Given the description of an element on the screen output the (x, y) to click on. 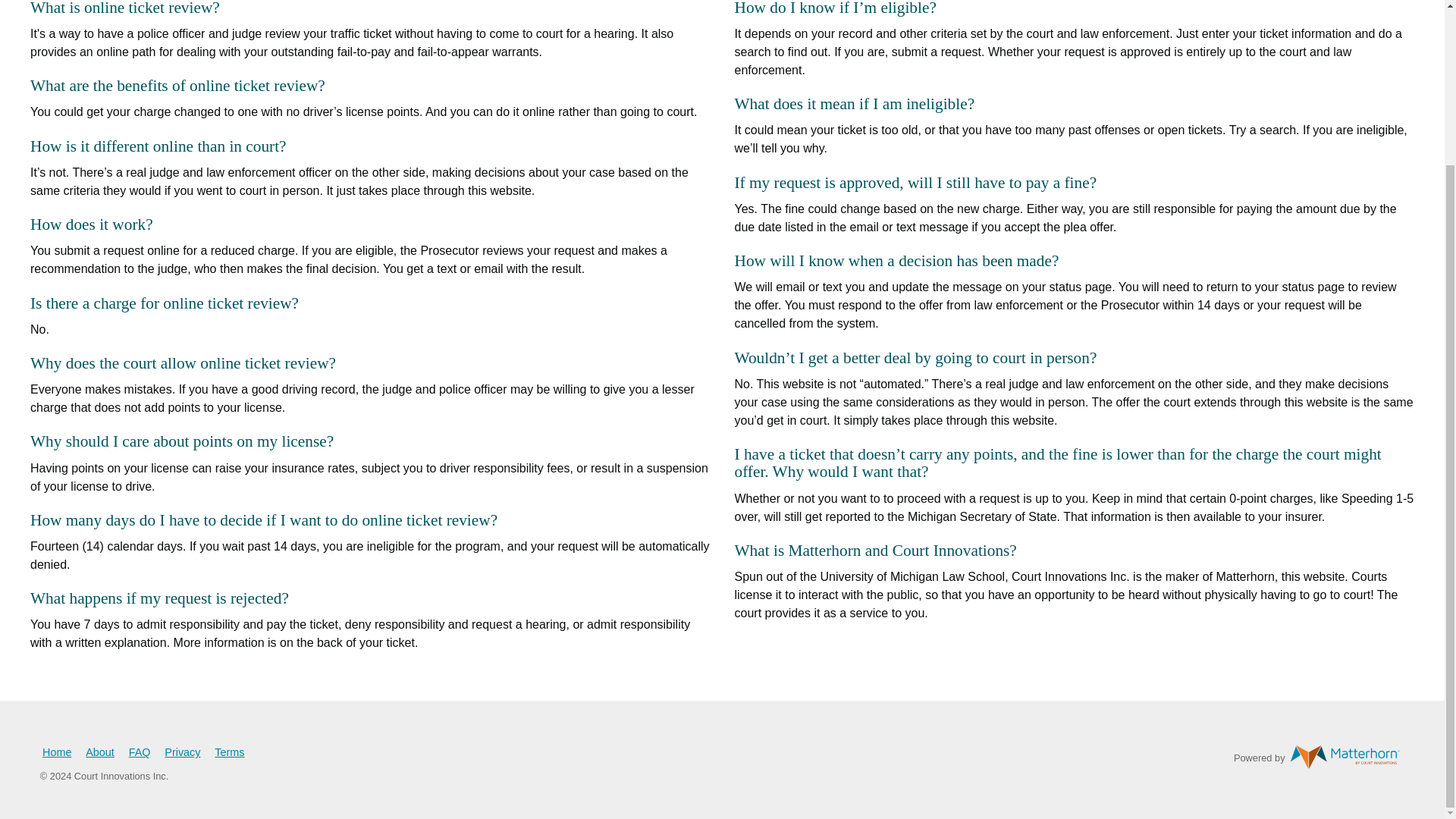
Home (56, 752)
FAQ (140, 752)
Privacy (182, 752)
About (100, 752)
Terms (229, 752)
